Given the description of an element on the screen output the (x, y) to click on. 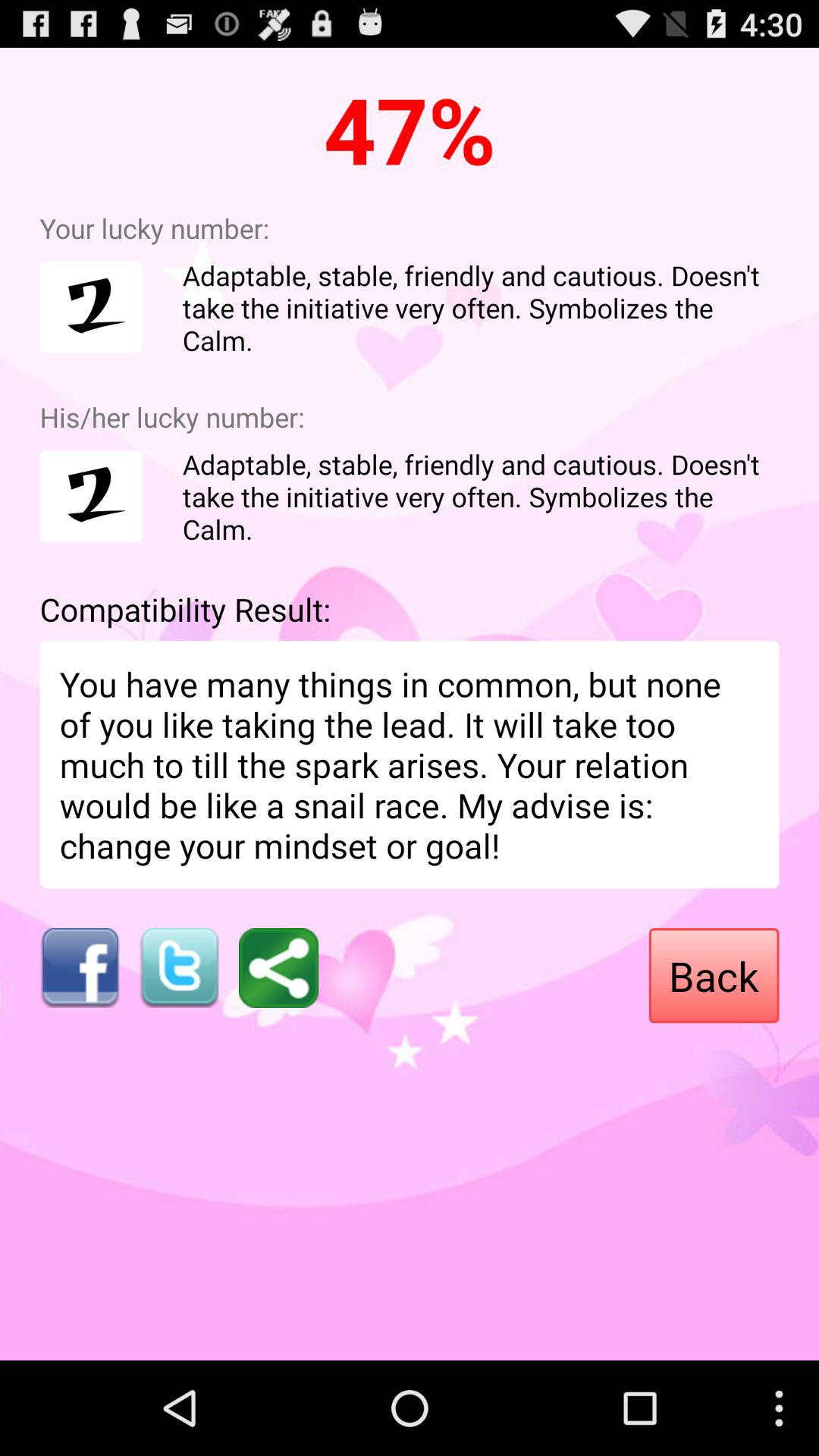
share to facebook (79, 967)
